Given the description of an element on the screen output the (x, y) to click on. 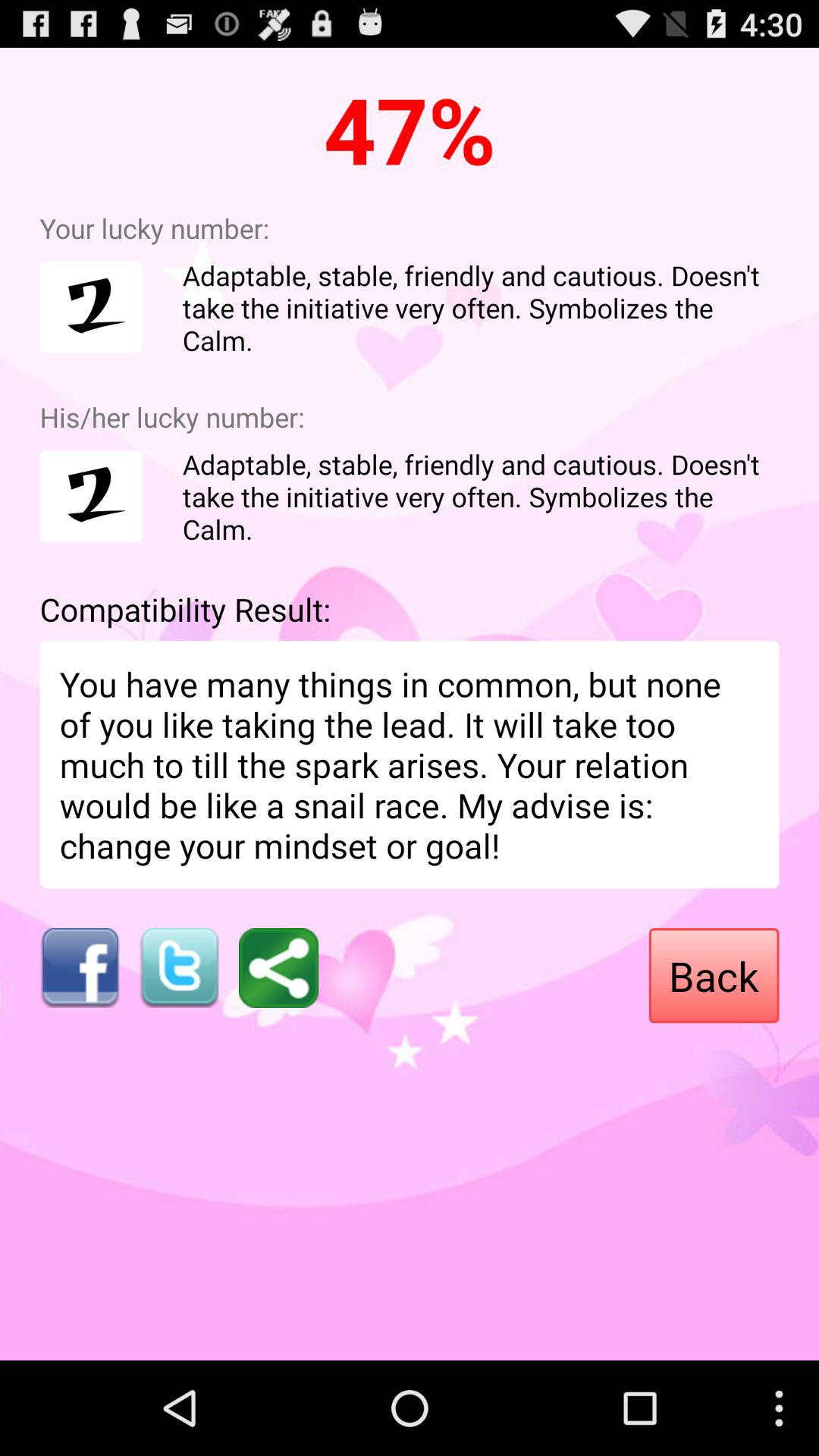
share to facebook (79, 967)
